Given the description of an element on the screen output the (x, y) to click on. 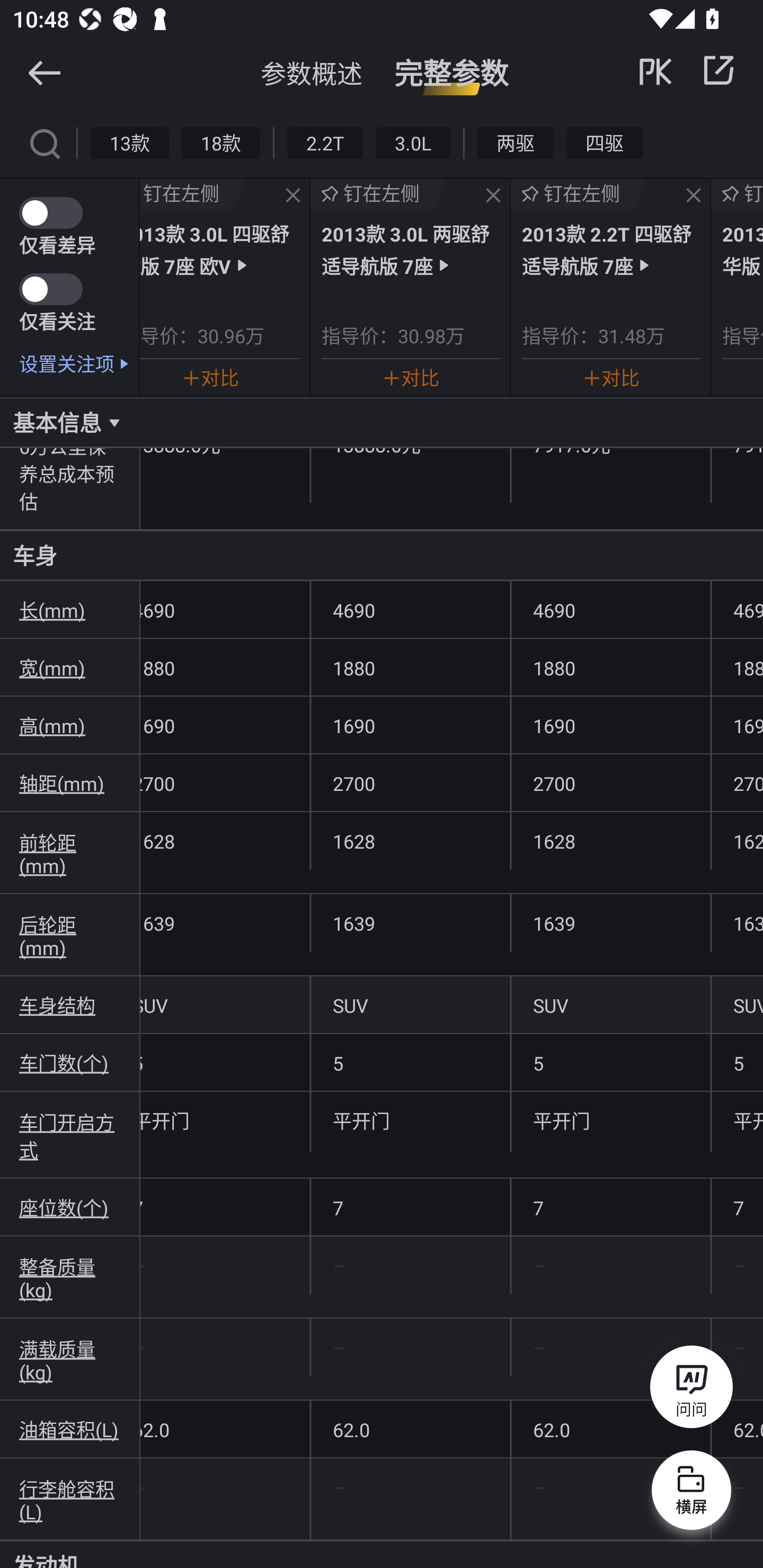
  (688, 70)
参数概述 (311, 72)
 (718, 70)
 (44, 71)
 (44, 142)
13款 (129, 142)
18款 (220, 142)
2.2T (324, 142)
3.0L (412, 142)
两驱 (515, 142)
四驱 (604, 142)
 钉在左侧 (193, 194)
 (292, 195)
 钉在左侧 (378, 194)
 (493, 195)
 钉在左侧 (578, 194)
 (693, 195)
2013款 3.0L 四驱舒适版 7座 欧V  (219, 249)
2013款 3.0L 两驱舒适导航版 7座  (410, 249)
2013款 2.2T 四驱舒适导航版 7座  (610, 249)
设置关注项  (79, 363)
对比 (209, 377)
对比 (410, 377)
对比 (610, 377)
基本信息  (381, 422)
长(mm) (69, 609)
4690 (224, 609)
4690 (410, 609)
4690 (610, 609)
宽(mm) (69, 667)
1880 (224, 667)
1880 (410, 667)
1880 (610, 667)
高(mm) (69, 725)
1690 (224, 725)
1690 (410, 725)
1690 (610, 725)
轴距(mm) (69, 783)
2700 (224, 783)
2700 (410, 783)
2700 (610, 783)
前轮距(mm) (69, 852)
1628 (224, 841)
1628 (410, 841)
1628 (610, 841)
后轮距(mm) (69, 934)
1639 (224, 922)
1639 (410, 922)
1639 (610, 922)
车身结构 (69, 1004)
SUV (410, 1004)
SUV (610, 1004)
车门数(个) (69, 1062)
5 (410, 1062)
5 (610, 1062)
5 (737, 1062)
车门开启方式 (69, 1135)
平开门 (410, 1120)
平开门 (610, 1120)
座位数(个) (69, 1208)
7 (410, 1208)
7 (610, 1208)
7 (737, 1208)
整备质量(kg) (69, 1277)
满载质量(kg) (69, 1359)
 问问 (691, 1389)
油箱容积(L) (69, 1429)
62.0 (410, 1429)
62.0 (610, 1429)
行李舱容积(L) (69, 1498)
